Given the description of an element on the screen output the (x, y) to click on. 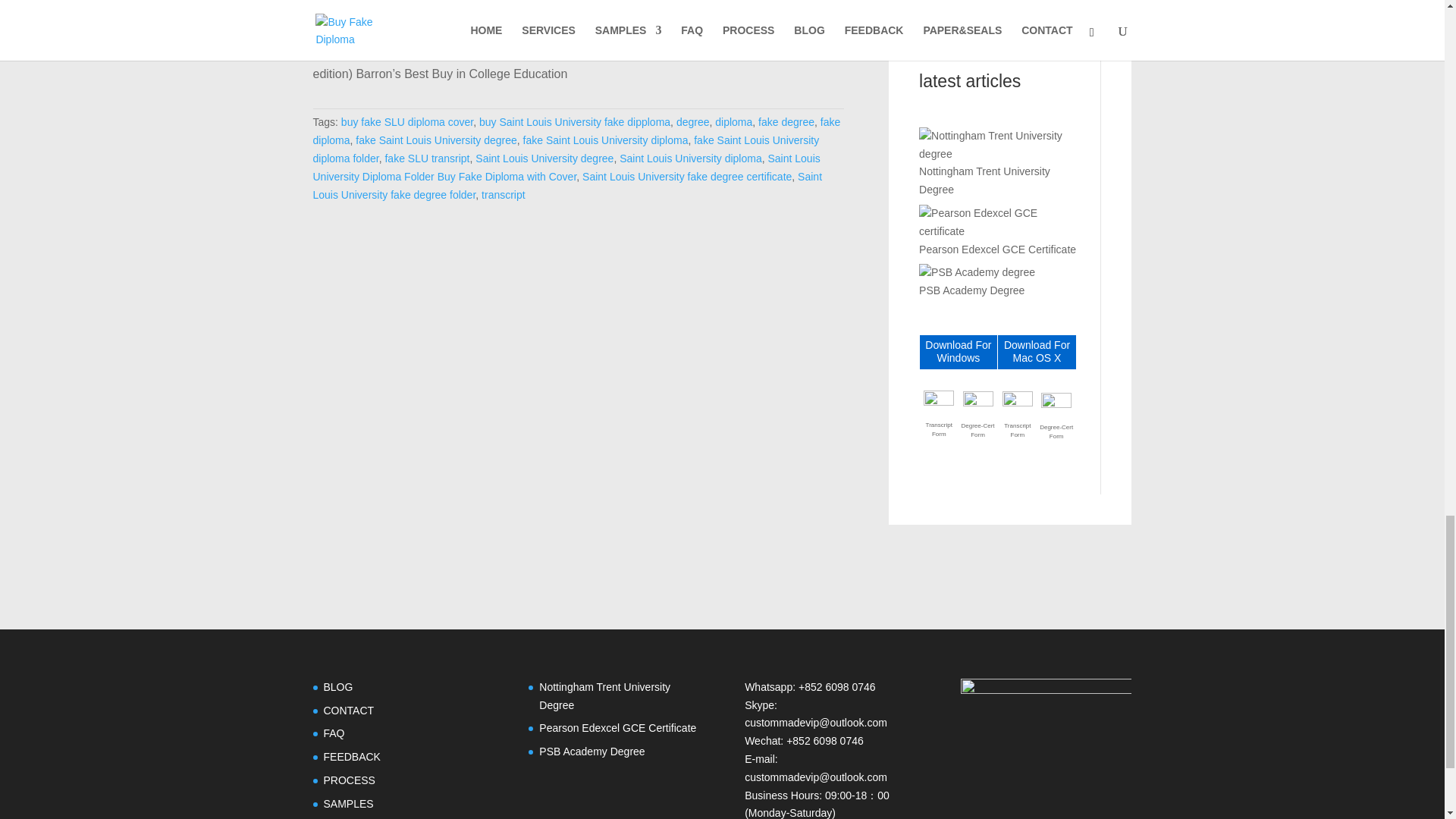
Saint Louis University diploma (690, 158)
fake Saint Louis University diploma folder (565, 149)
Saint Louis University fake degree certificate (687, 176)
fake SLU transript (426, 158)
fake degree (785, 121)
diploma (733, 121)
degree (693, 121)
fake Saint Louis University diploma (605, 140)
Saint Louis University fake degree folder (567, 185)
